Given the description of an element on the screen output the (x, y) to click on. 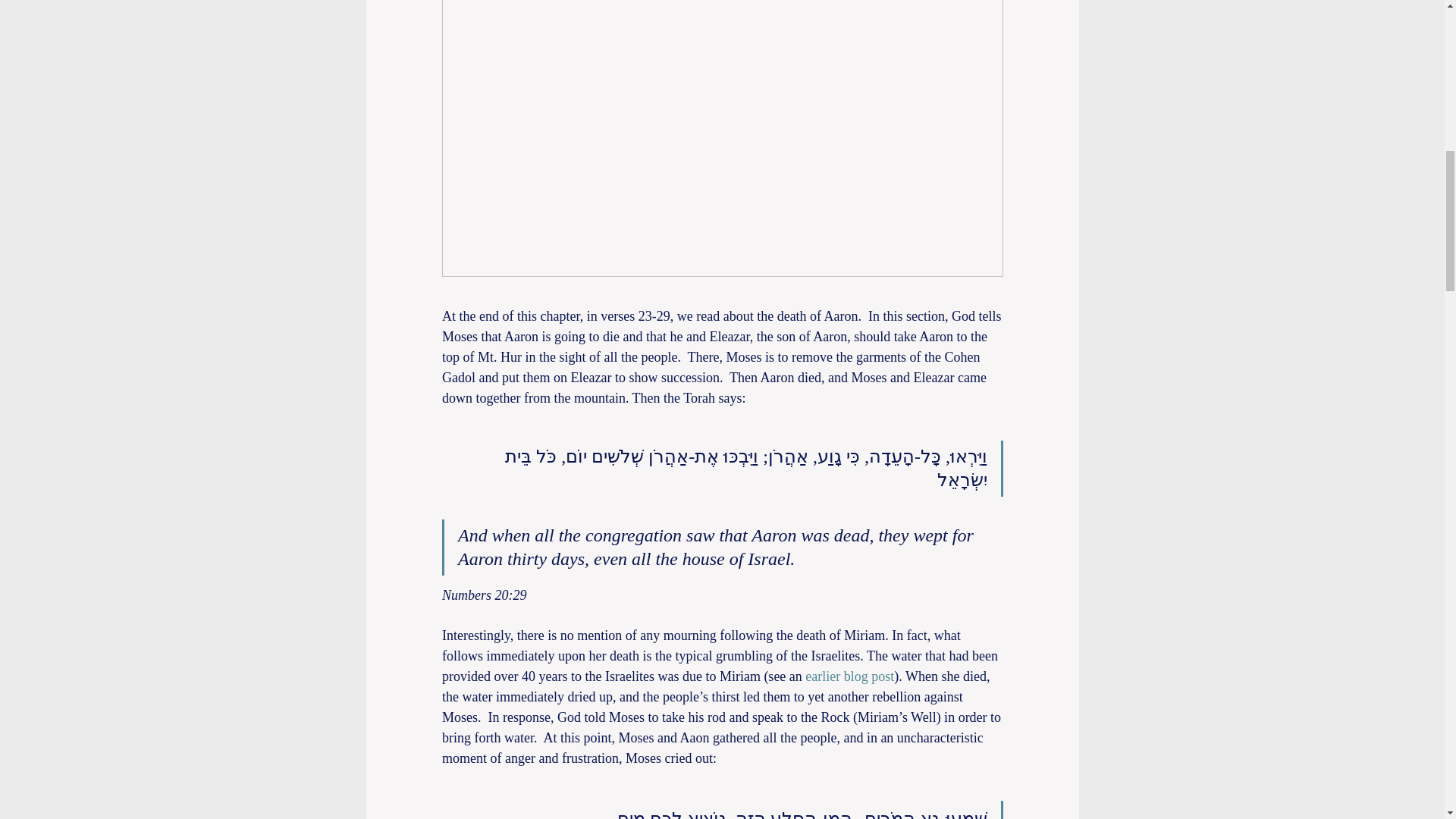
earlier blog post (849, 676)
